Given the description of an element on the screen output the (x, y) to click on. 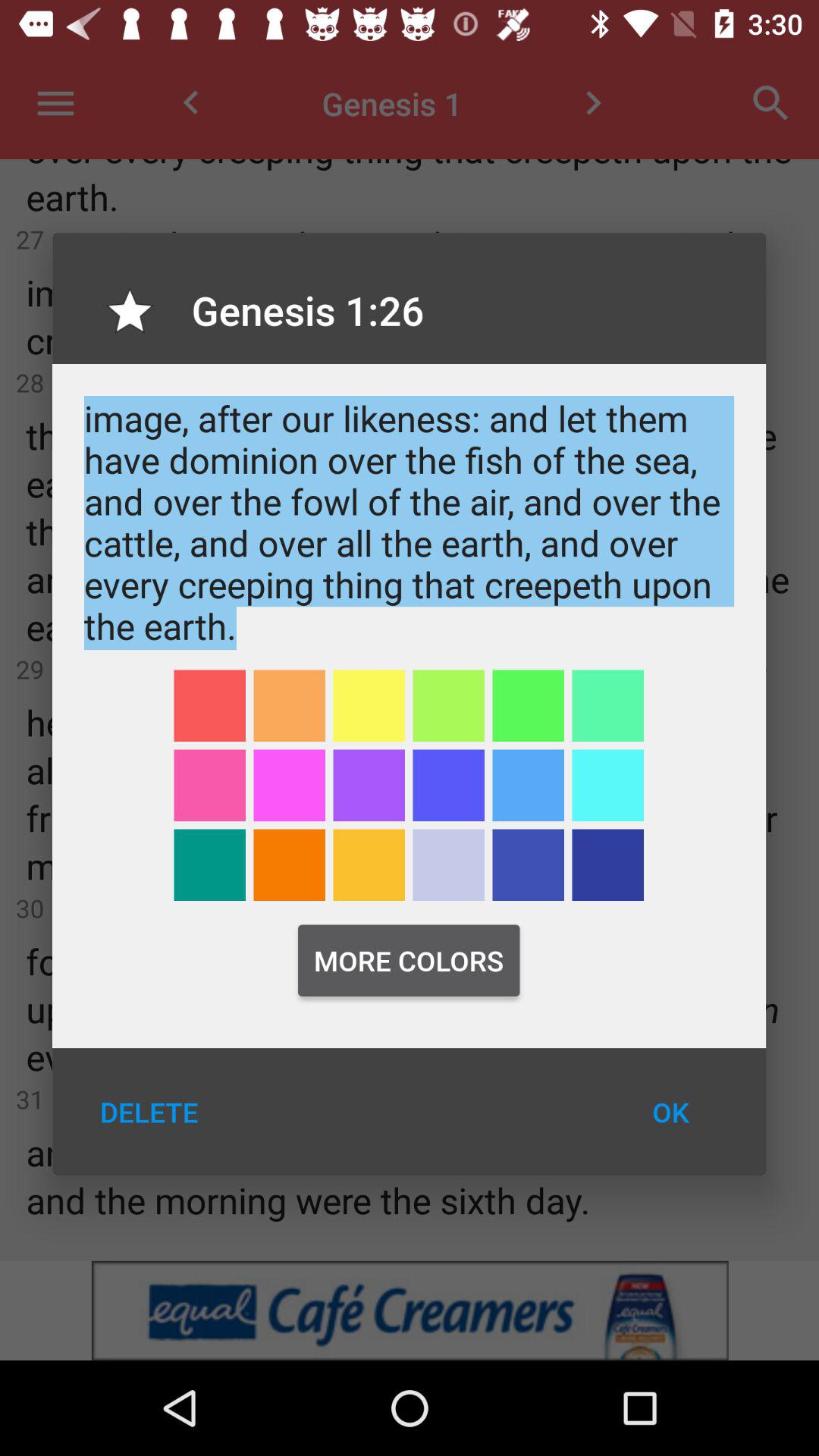
select highlighter color (528, 785)
